Given the description of an element on the screen output the (x, y) to click on. 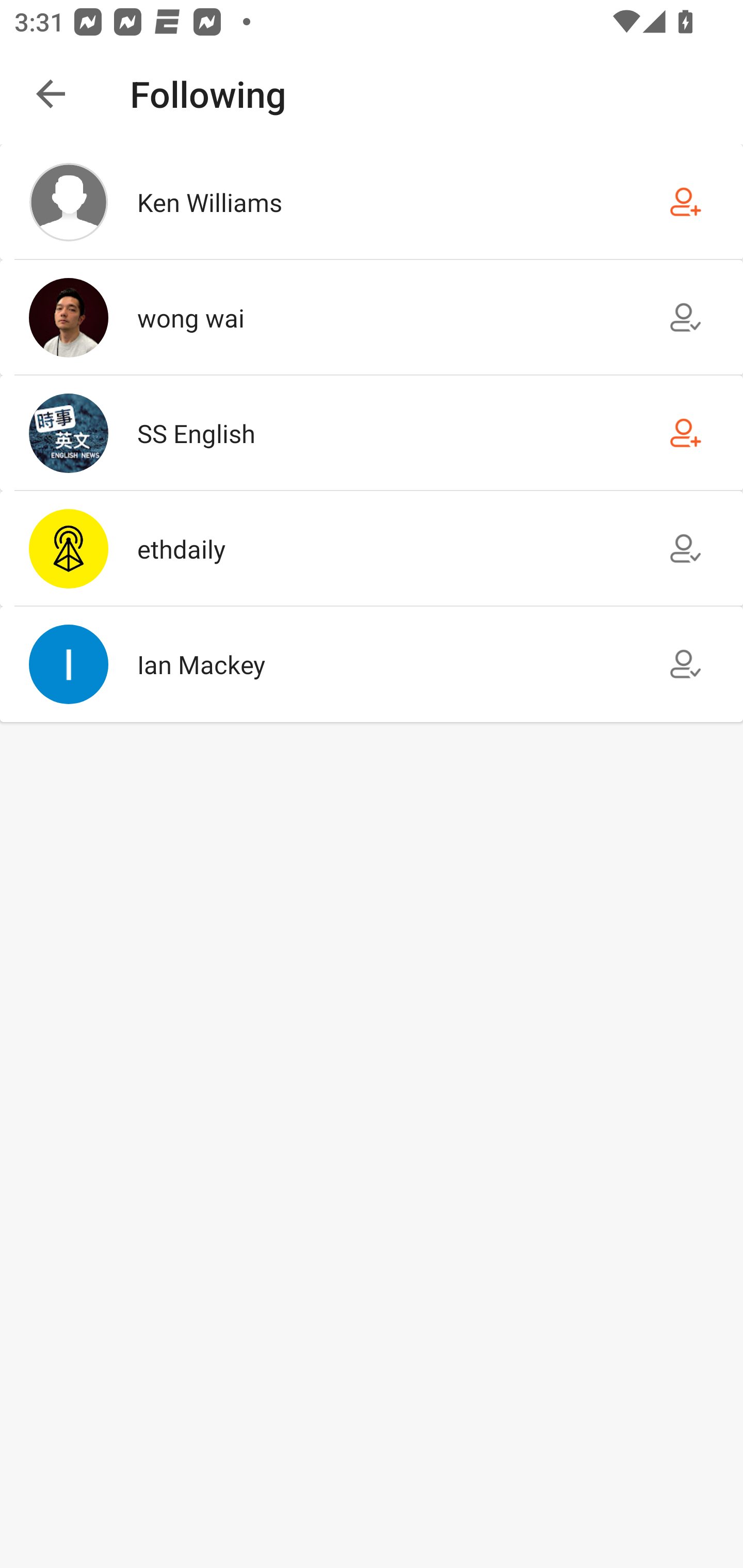
Navigate up (50, 93)
Ken Williams (371, 202)
wong wai (371, 317)
SS English (371, 432)
ethdaily (371, 548)
Ian Mackey (371, 664)
